Given the description of an element on the screen output the (x, y) to click on. 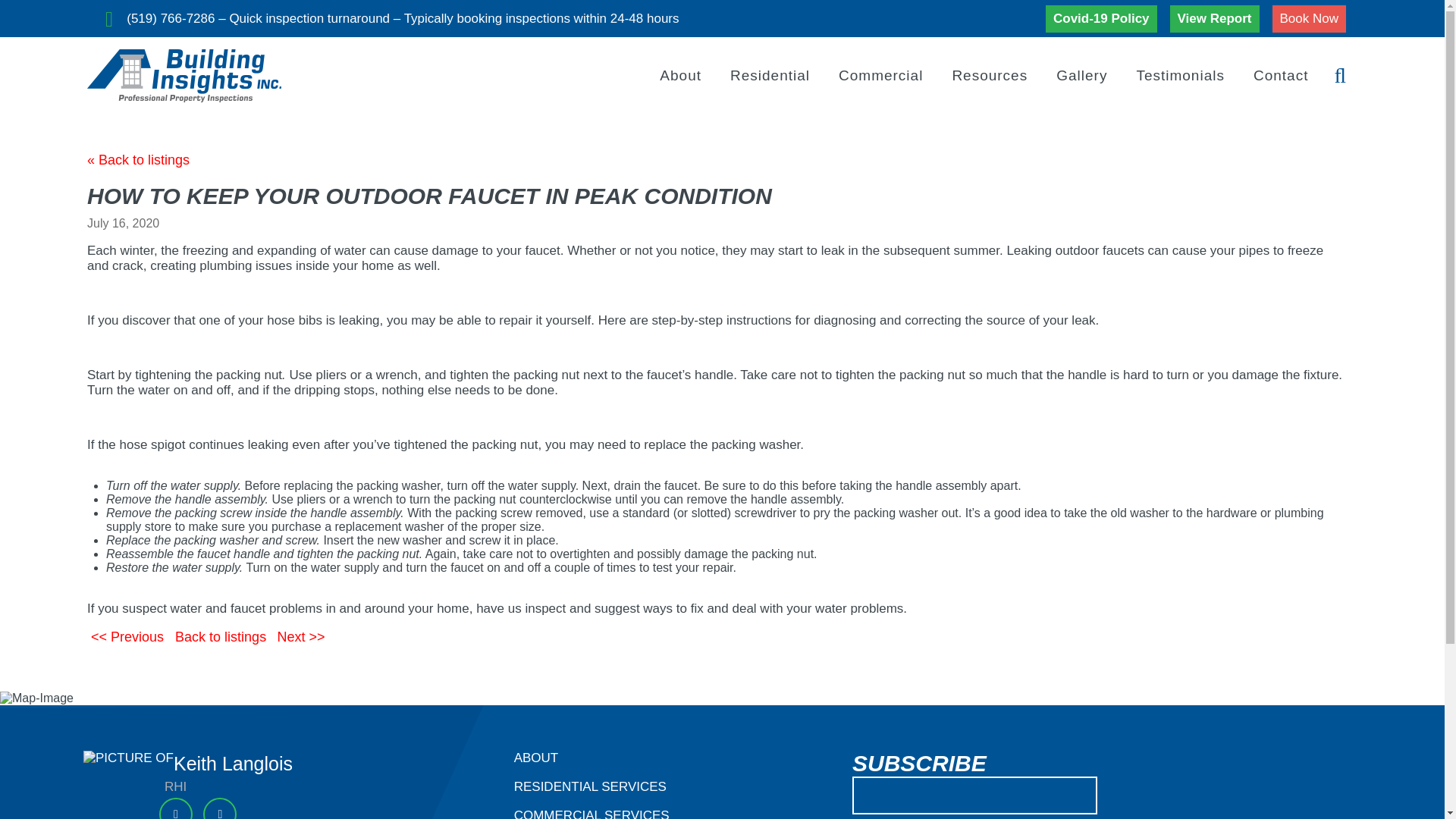
Commercial (880, 75)
About (680, 75)
Book Now (1308, 17)
Resources (989, 75)
Residential (770, 75)
Covid-19 Policy (1101, 17)
View Report (1214, 17)
Contact (1280, 75)
Search (1263, 75)
Testimonials (1180, 75)
